Given the description of an element on the screen output the (x, y) to click on. 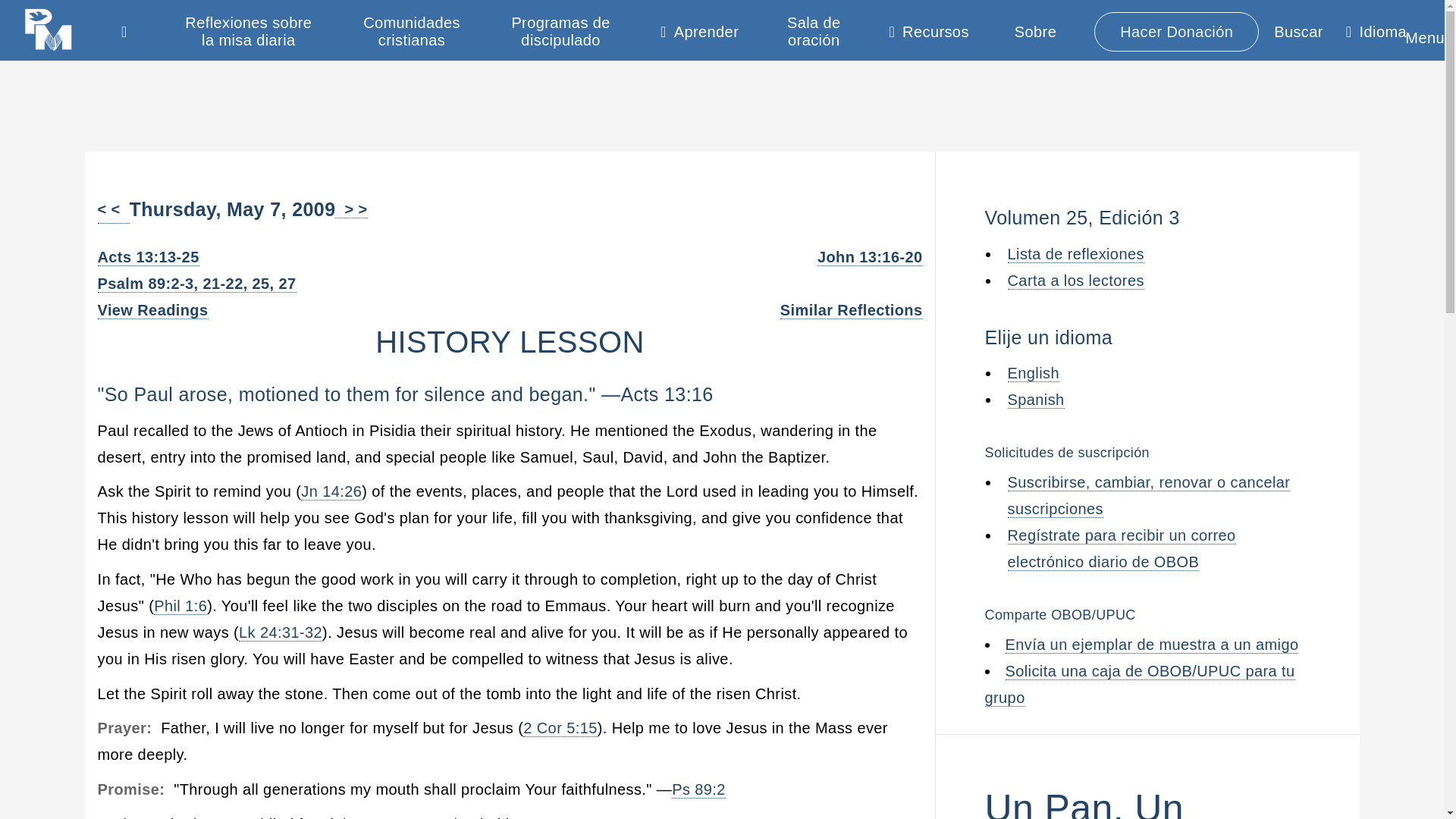
Programas de discipulado (561, 31)
Phil 1:6 (180, 606)
Aprender (699, 34)
Reflexiones sobre la misa diaria (248, 31)
Psalm 89:2-3, 21-22, 25, 27 (196, 283)
John 13:16-20 (869, 257)
Sobre (1034, 31)
English (1033, 373)
Lista de reflexiones (1075, 253)
Acts 13:16 (666, 394)
Spanish (1035, 399)
Carta a los lectores (1075, 280)
Recursos (928, 34)
View Readings (152, 310)
Lk 24:31-32 (279, 632)
